Given the description of an element on the screen output the (x, y) to click on. 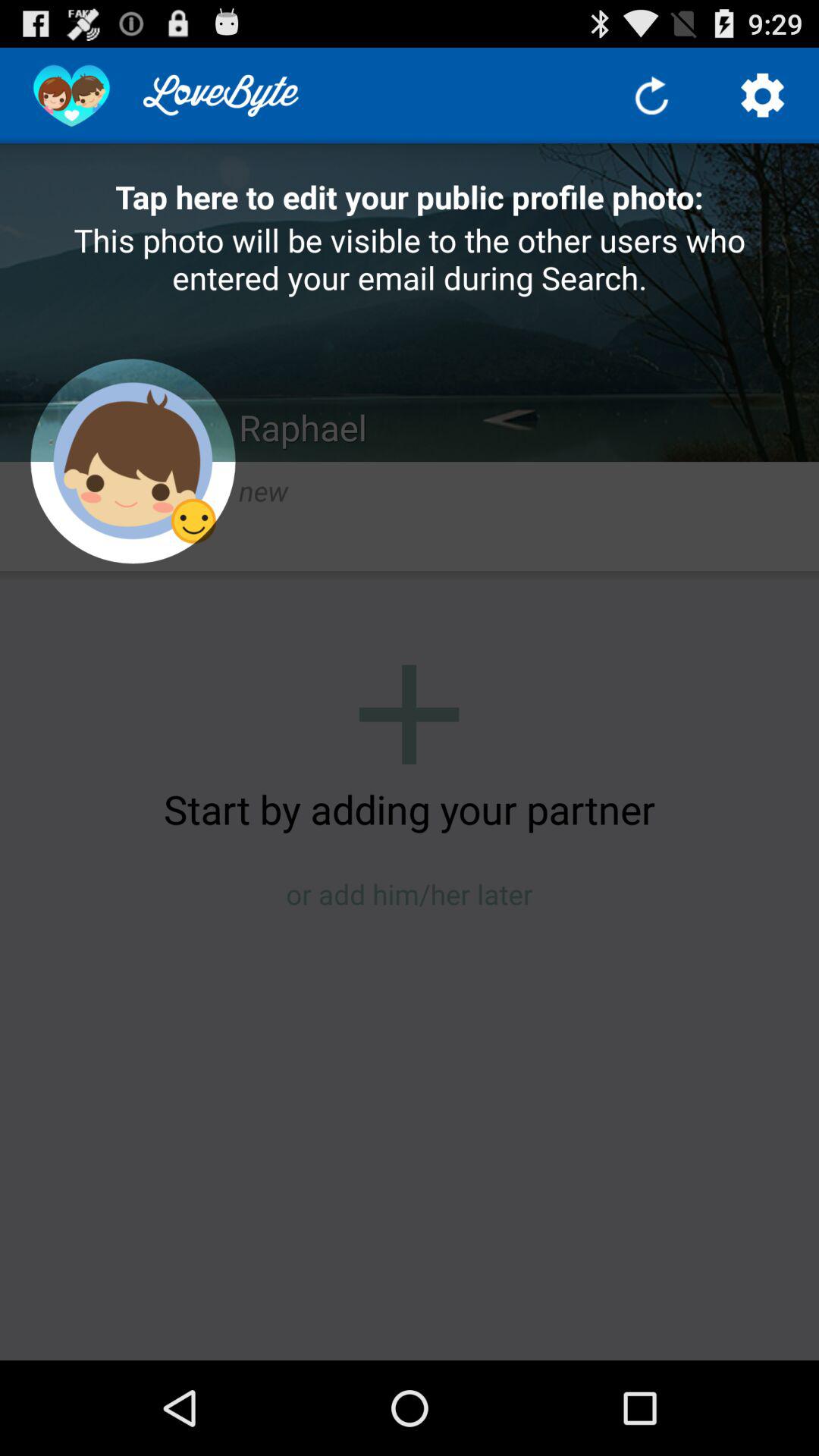
add another user (408, 714)
